Given the description of an element on the screen output the (x, y) to click on. 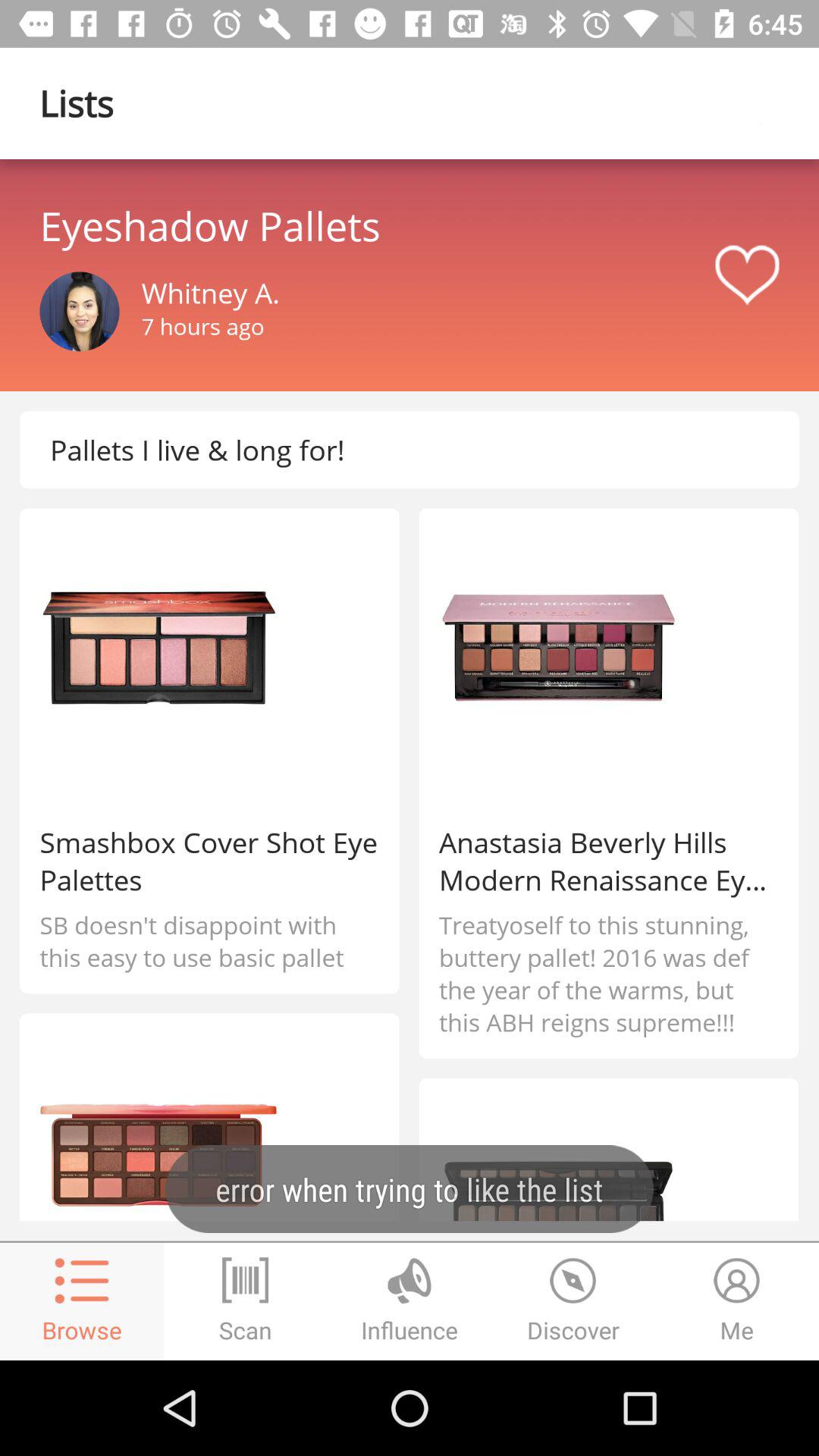
view profile (79, 311)
